Given the description of an element on the screen output the (x, y) to click on. 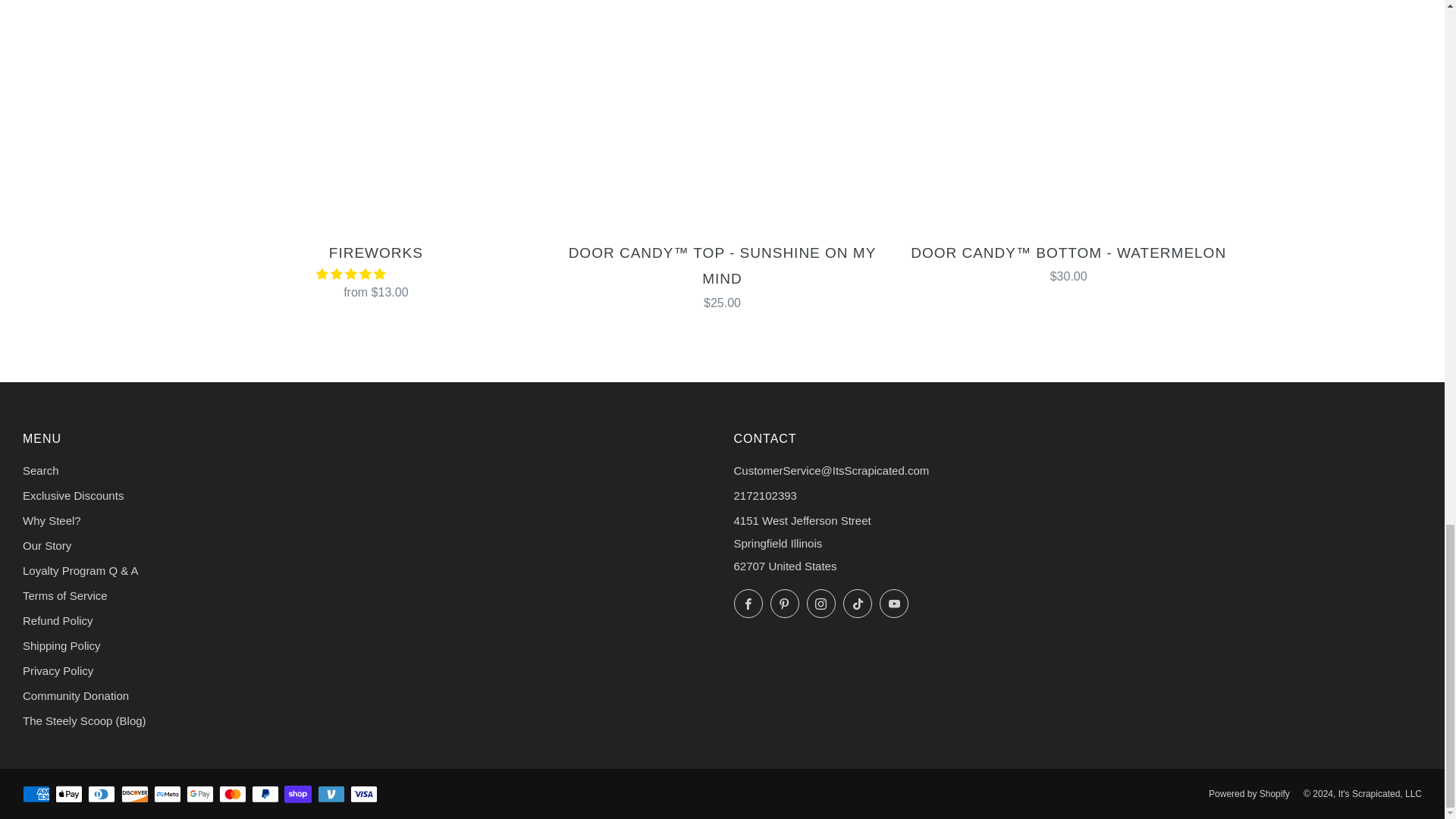
Fireworks (376, 269)
